Given the description of an element on the screen output the (x, y) to click on. 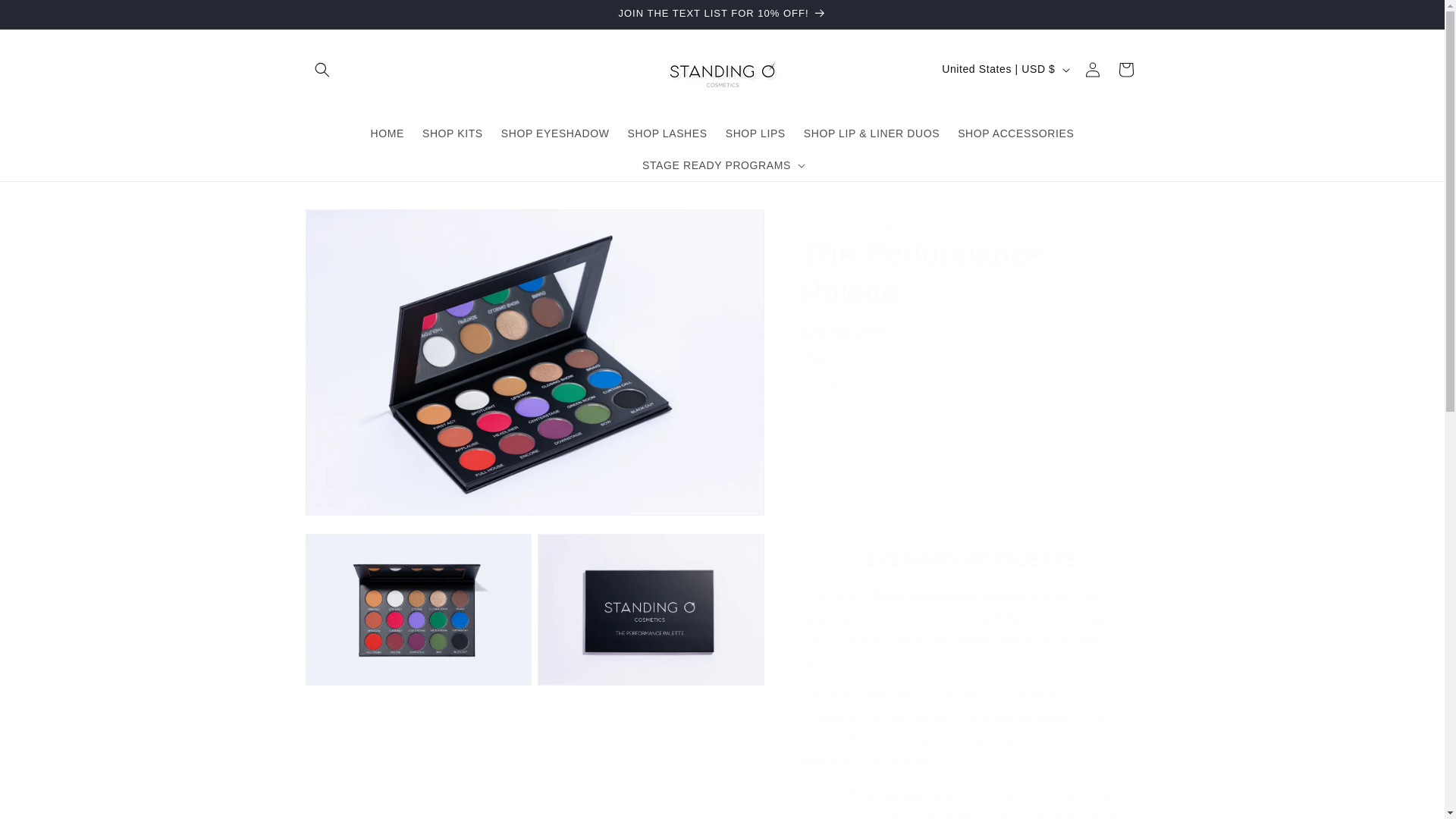
SHOP EYESHADOW (555, 132)
SHOP KITS (452, 132)
Log in (1091, 69)
1 (856, 412)
SHOP LIPS (755, 132)
SHOP ACCESSORIES (1016, 132)
Open media 3 in modal (650, 609)
HOME (387, 132)
Cart (1124, 69)
